Given the description of an element on the screen output the (x, y) to click on. 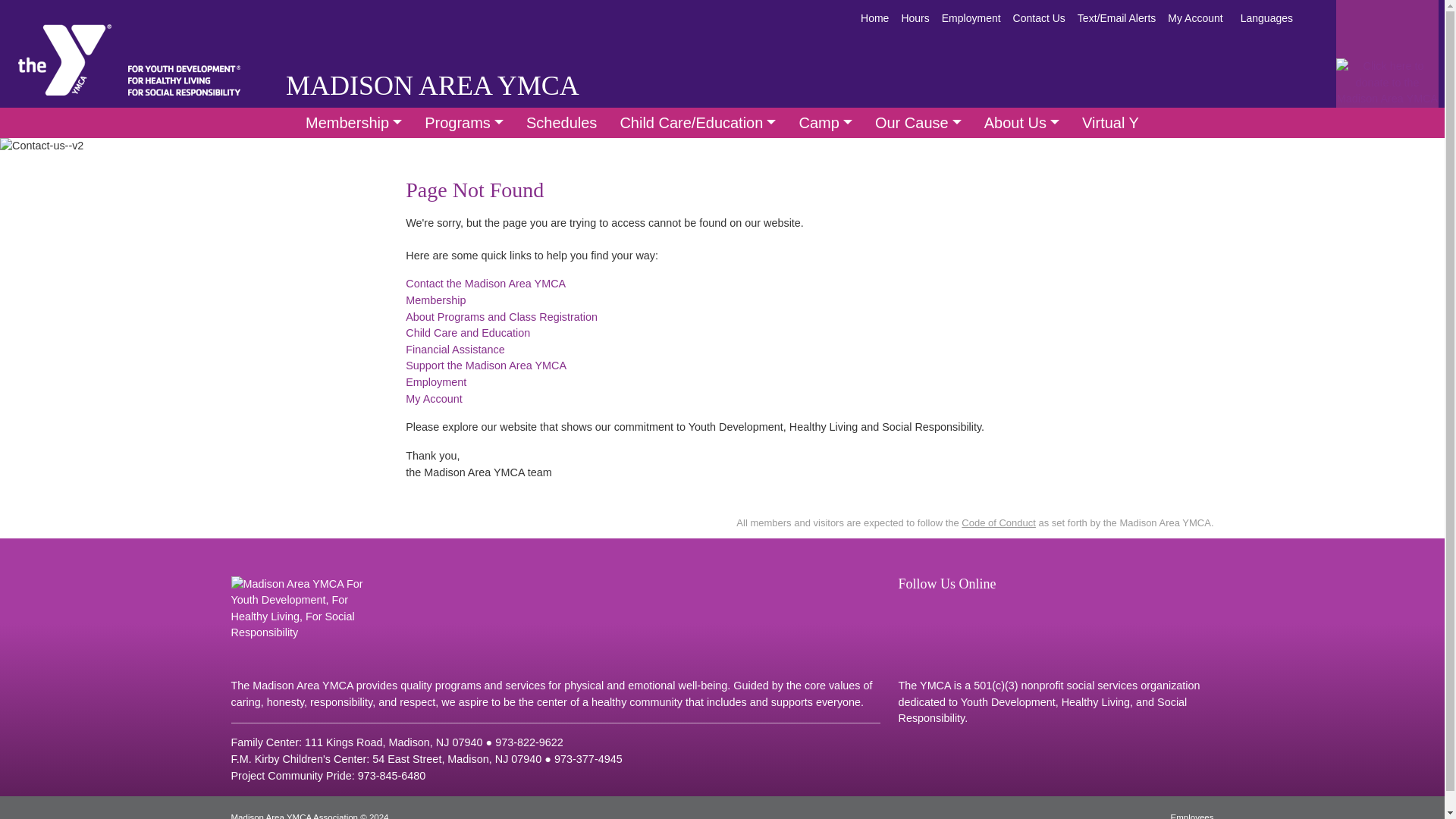
Employment (971, 17)
Languages (1266, 17)
My Account (1194, 17)
Home (874, 17)
Programs (464, 122)
Search button (1319, 9)
Contact Us (1039, 17)
Go to our Facebook page (909, 613)
Go to home page (64, 59)
Search button (1321, 19)
Contact-us--v2 (41, 146)
Membership (353, 122)
Hours (914, 17)
Follow us on Instagram (966, 613)
See us on YouTube (937, 613)
